Given the description of an element on the screen output the (x, y) to click on. 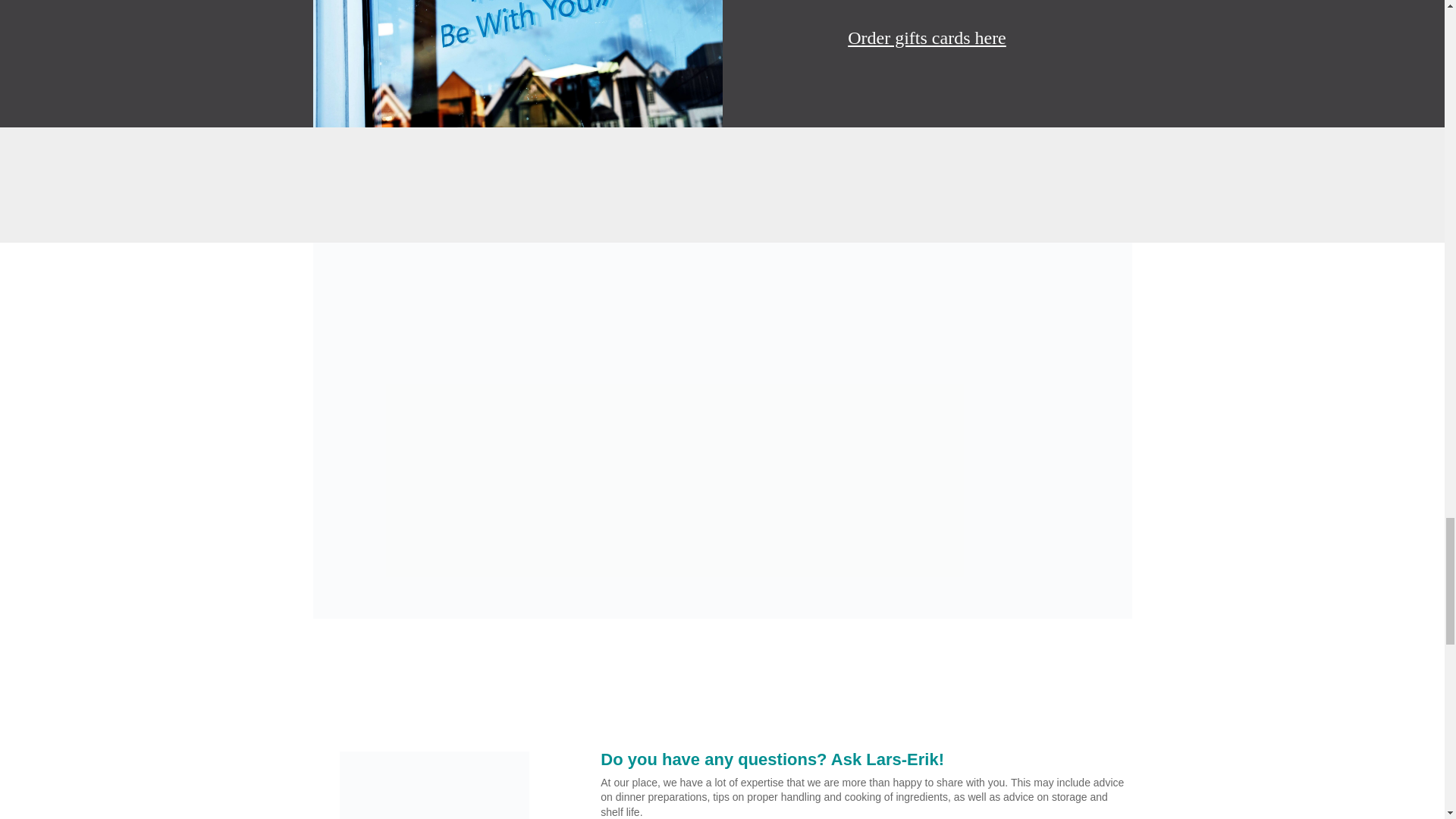
Order gifts cards here (926, 37)
lars-erik-480x477 (434, 785)
